Given the description of an element on the screen output the (x, y) to click on. 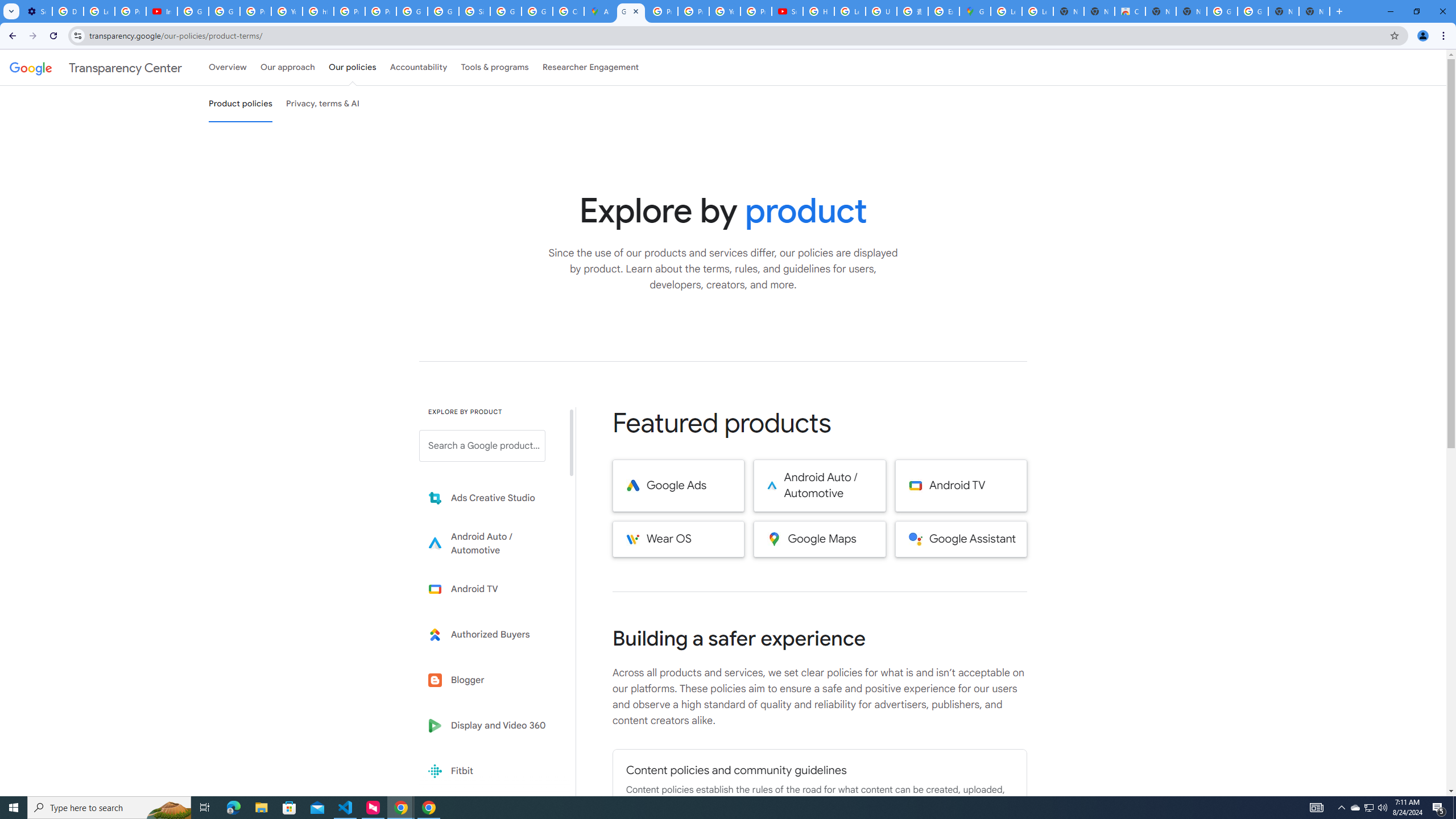
Sign in - Google Accounts (474, 11)
Android Auto / Automotive (820, 485)
Learn more about Ads Creative Studio (490, 497)
Google Ads (678, 485)
Learn more about Authorized Buyers (490, 634)
Subscriptions - YouTube (787, 11)
YouTube (724, 11)
Learn more about Authorized Buyers (490, 634)
Learn more about Android TV (490, 588)
Google Images (1252, 11)
Transparency Center (95, 67)
